Given the description of an element on the screen output the (x, y) to click on. 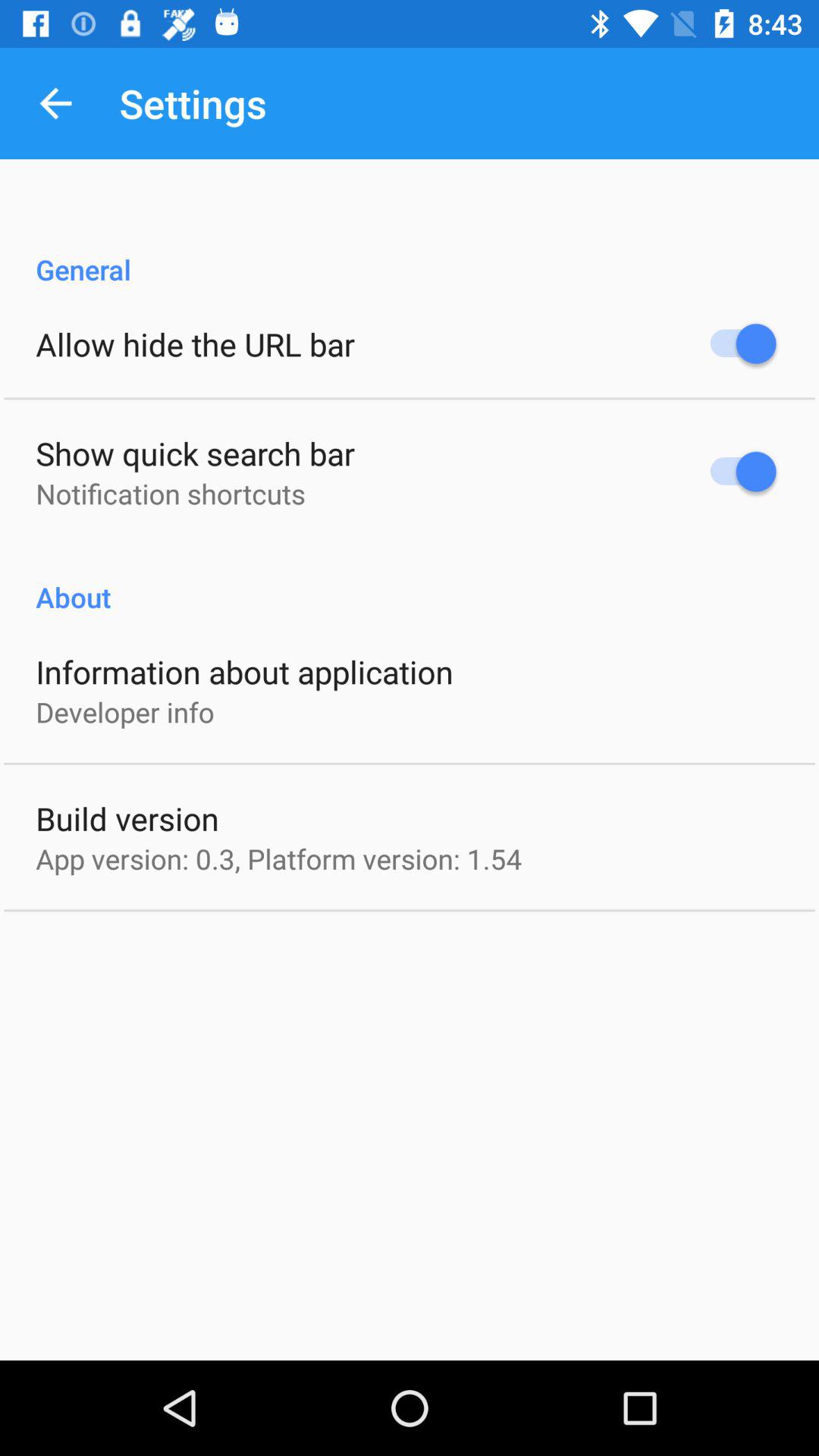
turn on show quick search item (194, 452)
